Given the description of an element on the screen output the (x, y) to click on. 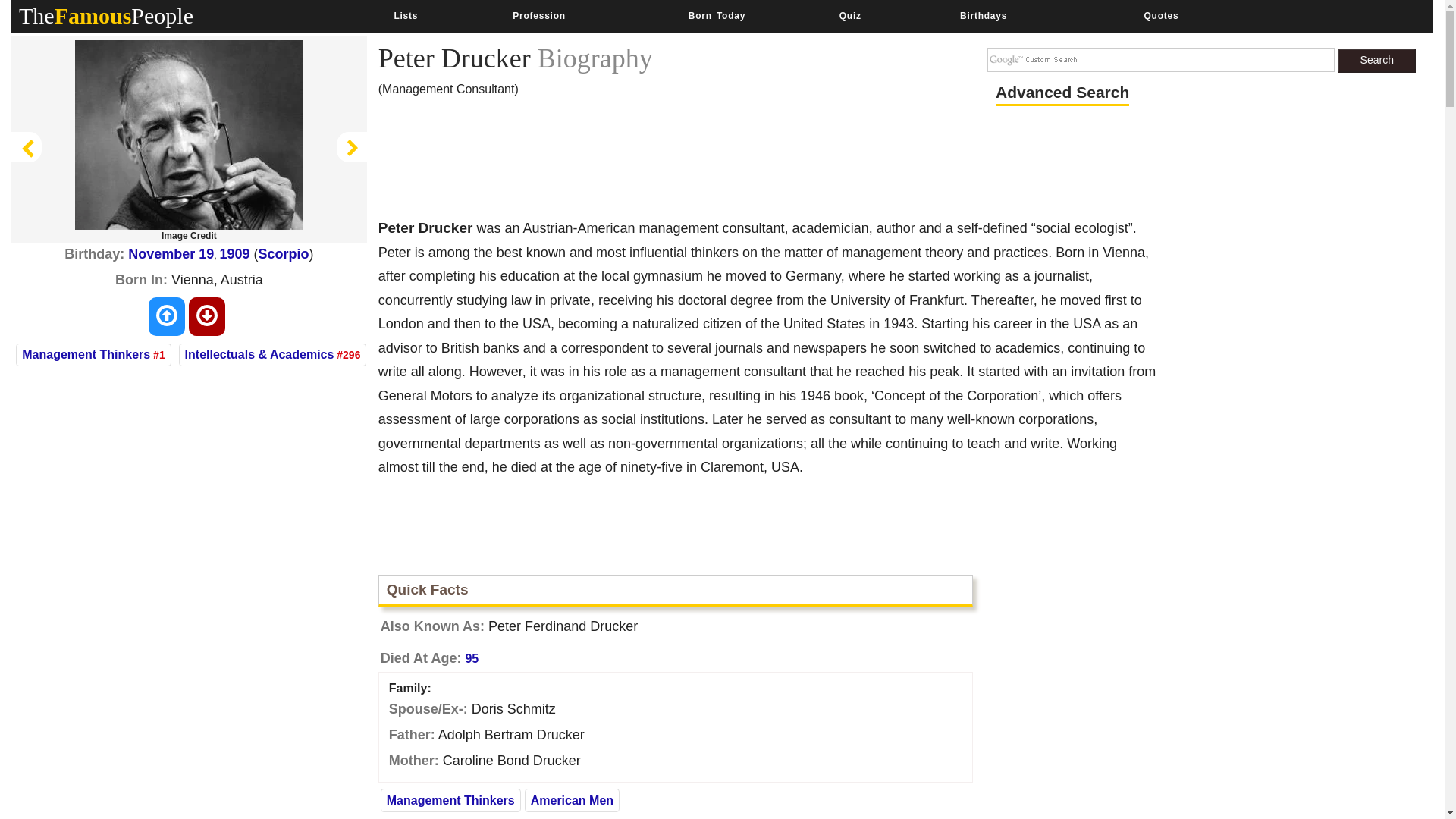
American Men (571, 799)
Advanced Search (1062, 93)
Born Today (715, 15)
Search (1376, 60)
Search (1376, 60)
95 (471, 658)
Quiz (850, 15)
Advertisement (188, 693)
Search (1376, 60)
TheFamousPeople (105, 15)
Advertisement (654, 162)
Advertisement (1218, 673)
1909 (234, 253)
Quotes (1160, 15)
